Given the description of an element on the screen output the (x, y) to click on. 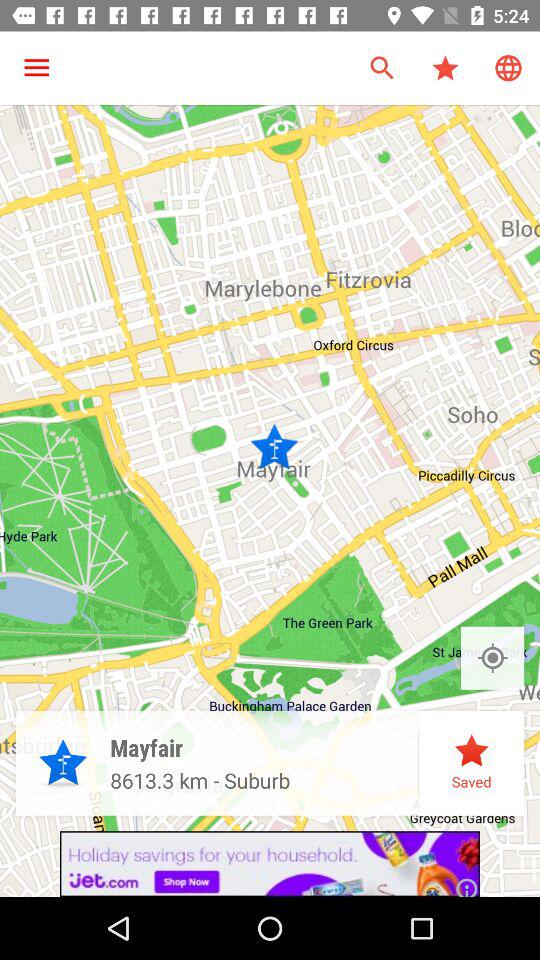
opens advertisement (270, 864)
